Given the description of an element on the screen output the (x, y) to click on. 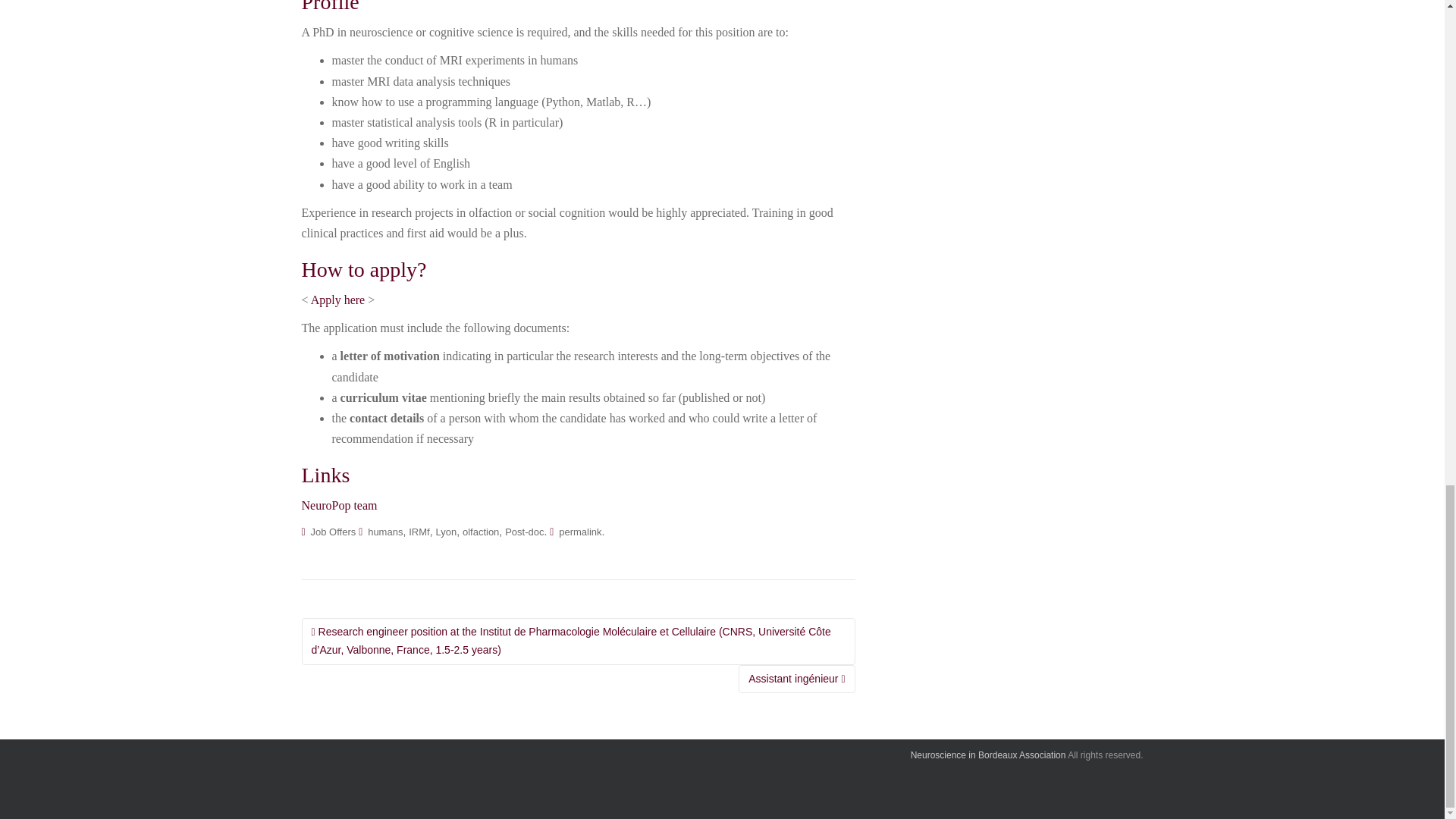
humans (385, 531)
olfaction (481, 531)
Job Offers (333, 531)
Lyon (446, 531)
IRMf (419, 531)
Post-doc (524, 531)
Apply here (338, 299)
NeuroPop team (339, 504)
permalink (580, 531)
